Given the description of an element on the screen output the (x, y) to click on. 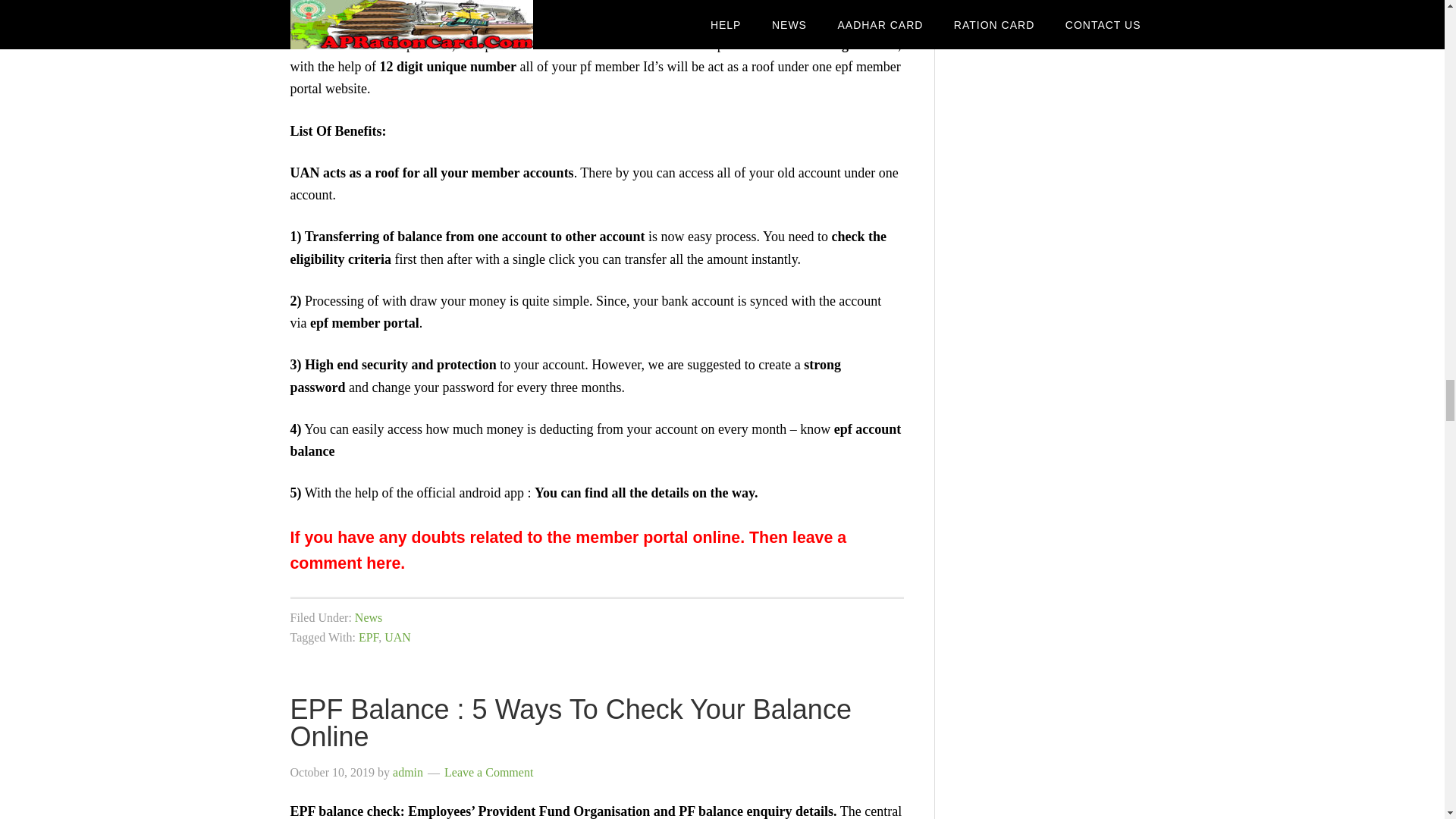
UAN (397, 636)
News (368, 617)
admin (408, 771)
EPF Balance : 5 Ways To Check Your Balance Online (569, 722)
Leave a Comment (488, 771)
EPF (368, 636)
